Given the description of an element on the screen output the (x, y) to click on. 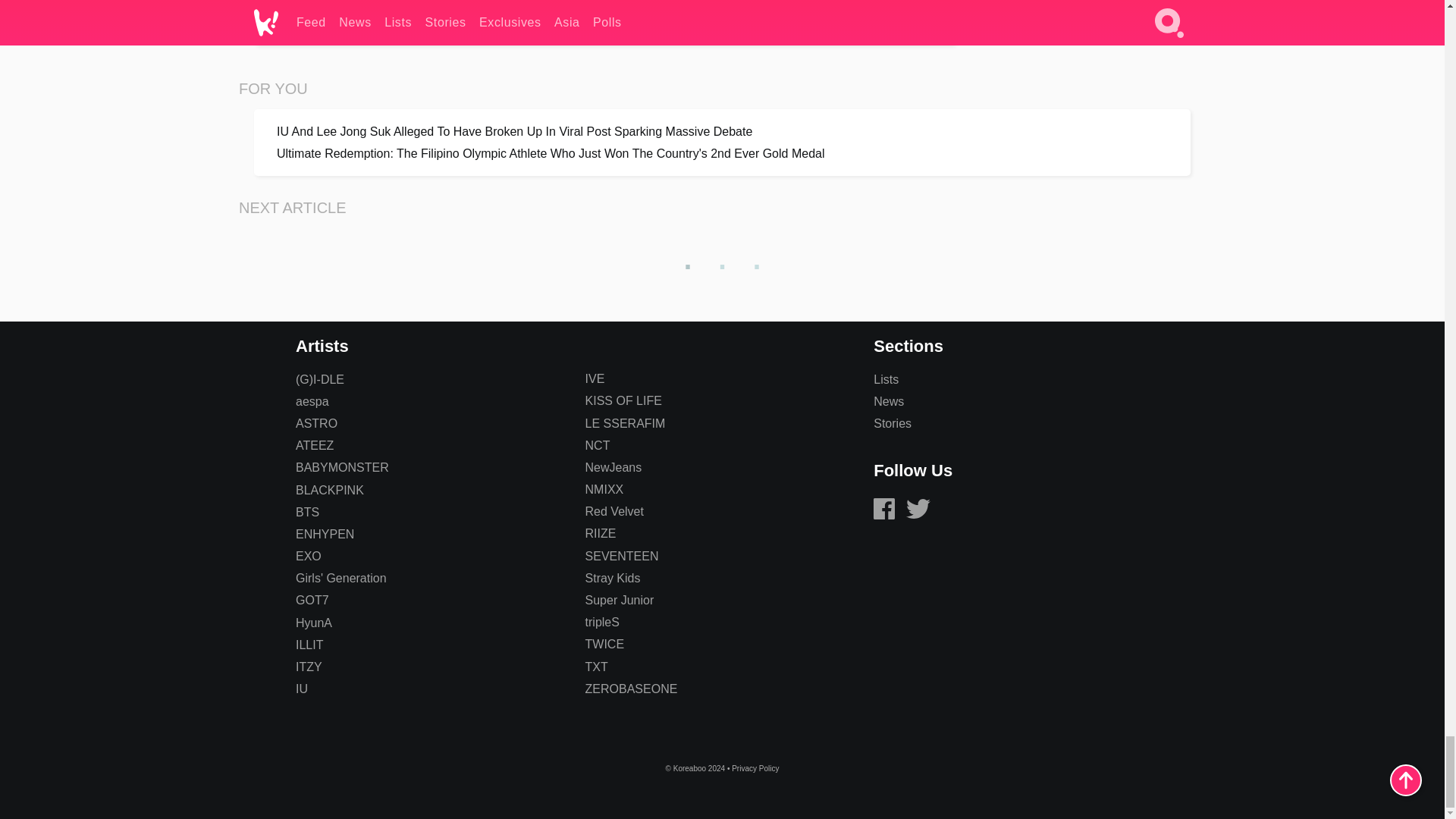
HyunA (313, 622)
ITZY (308, 666)
LE SSERAFIM (625, 422)
EXO (308, 555)
ASTRO (316, 422)
ENHYPEN (324, 533)
BTS (306, 512)
ATEEZ (314, 445)
BABYMONSTER (341, 467)
BLACKPINK (329, 489)
IVE (595, 378)
NewJeans (613, 467)
NCT (597, 445)
aespa (312, 400)
